Given the description of an element on the screen output the (x, y) to click on. 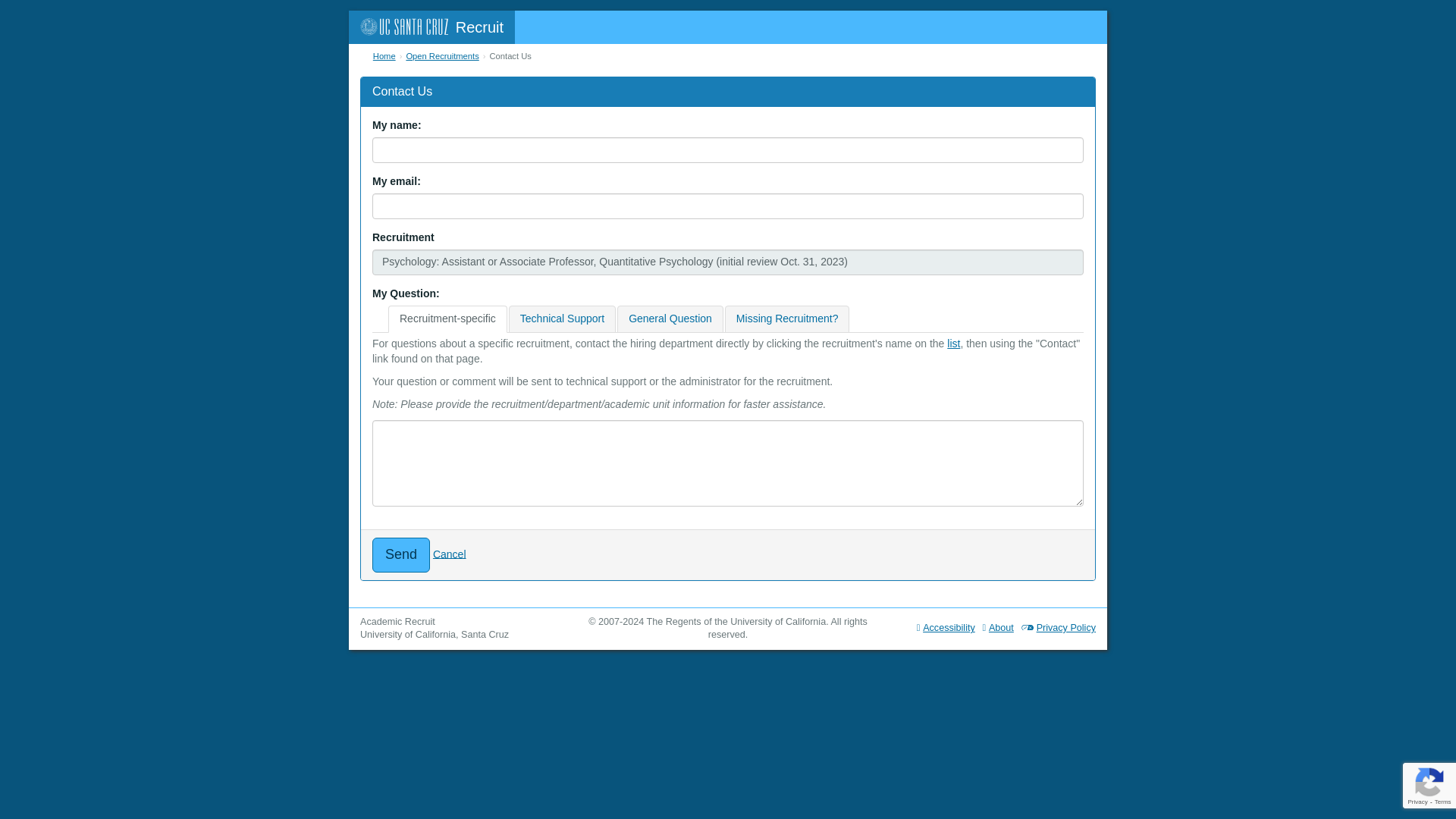
Technical Support (561, 318)
Cancel (448, 553)
Send (400, 554)
Send (400, 554)
Recruit (432, 27)
Open Recruitments (442, 55)
General Question (670, 318)
Home (384, 55)
Recruitment-specific (447, 318)
